Given the description of an element on the screen output the (x, y) to click on. 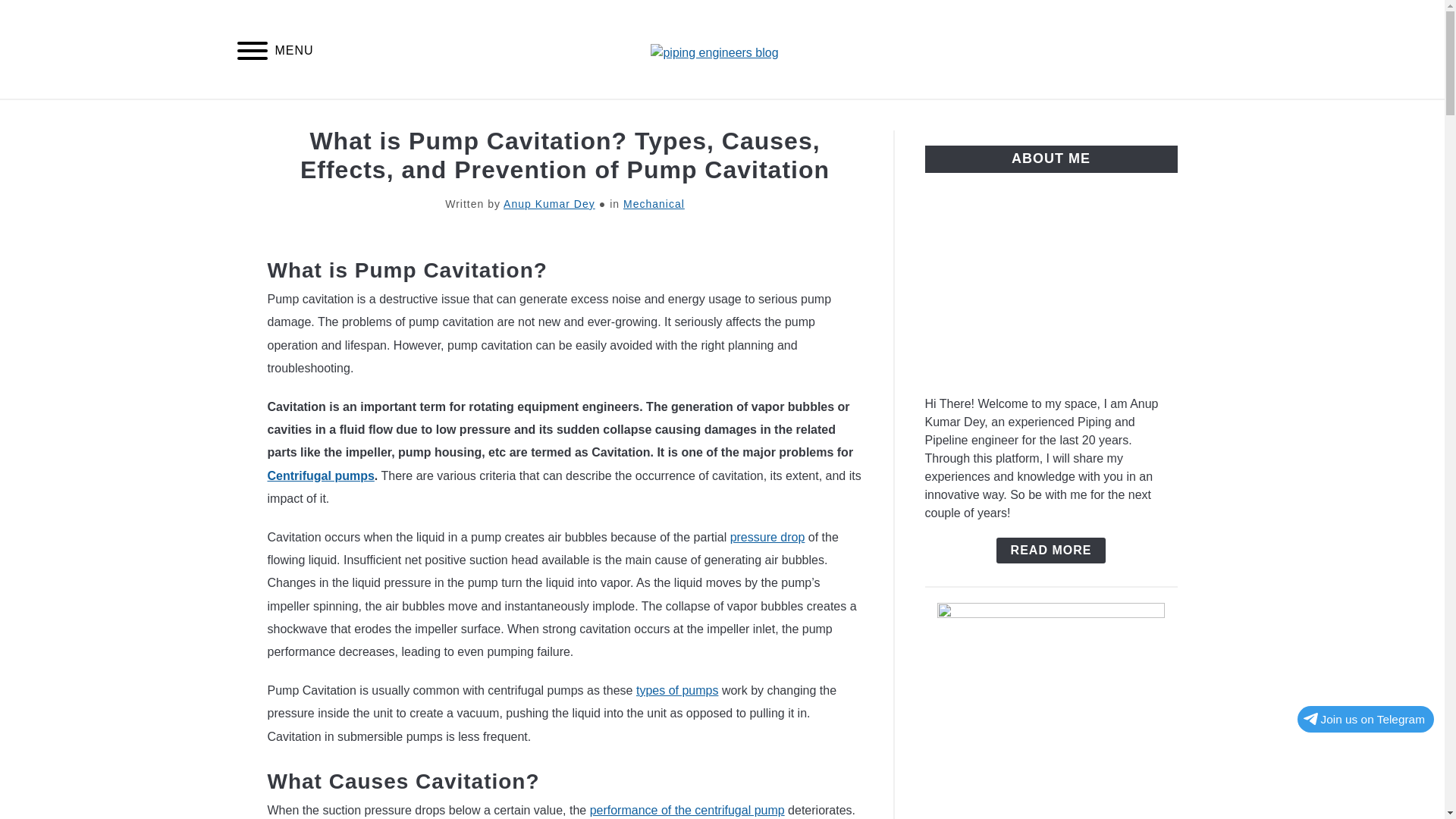
Centrifugal pumps (320, 475)
MENU (251, 53)
types of pumps (677, 689)
performance of the centrifugal pump (686, 809)
pressure drop (767, 536)
Anup Kumar Dey (549, 203)
Mechanical (653, 203)
Search (1203, 49)
